Given the description of an element on the screen output the (x, y) to click on. 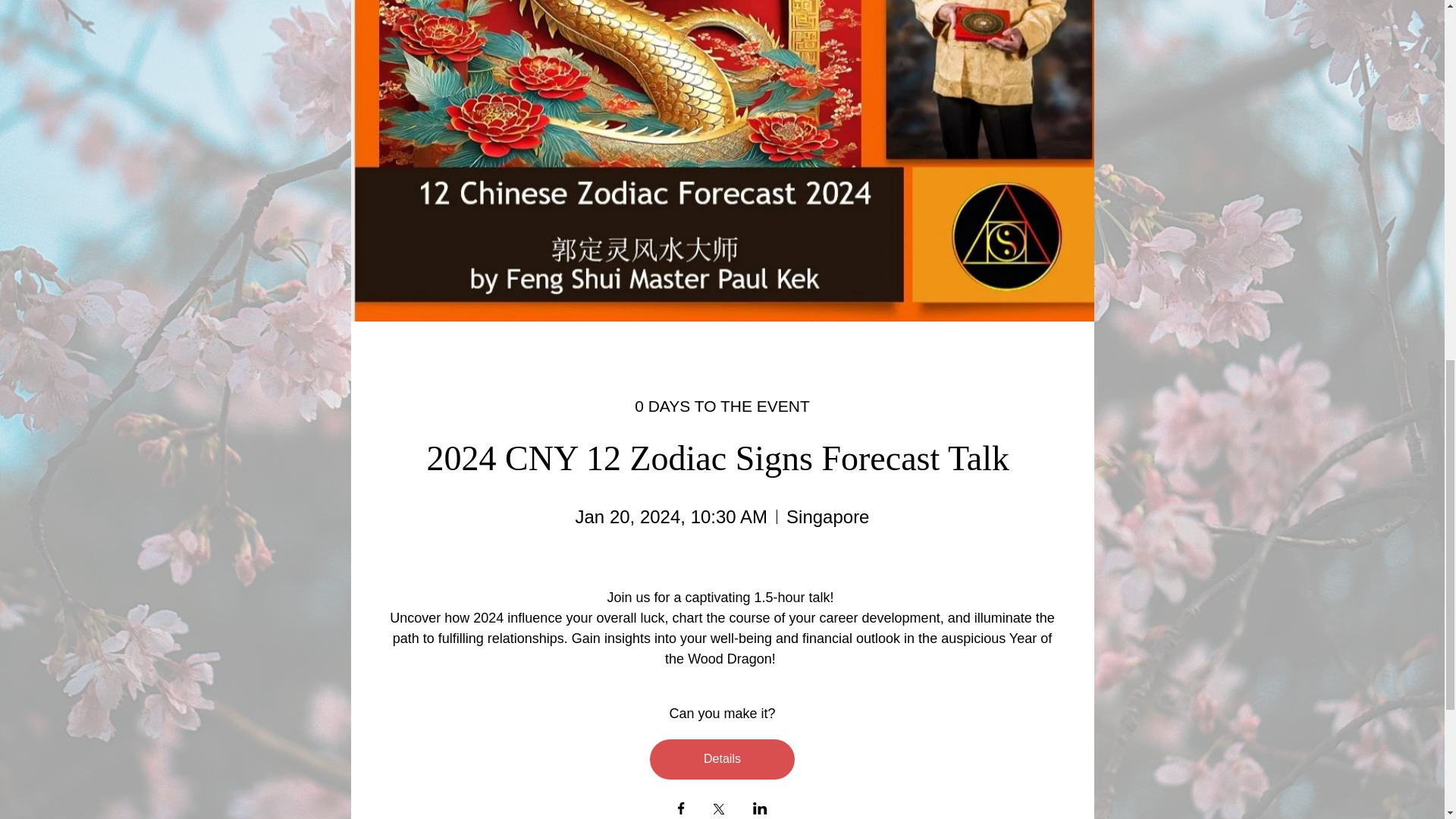
2024 CNY 12 Zodiac Signs Forecast Talk  (721, 457)
Details (721, 759)
